Given the description of an element on the screen output the (x, y) to click on. 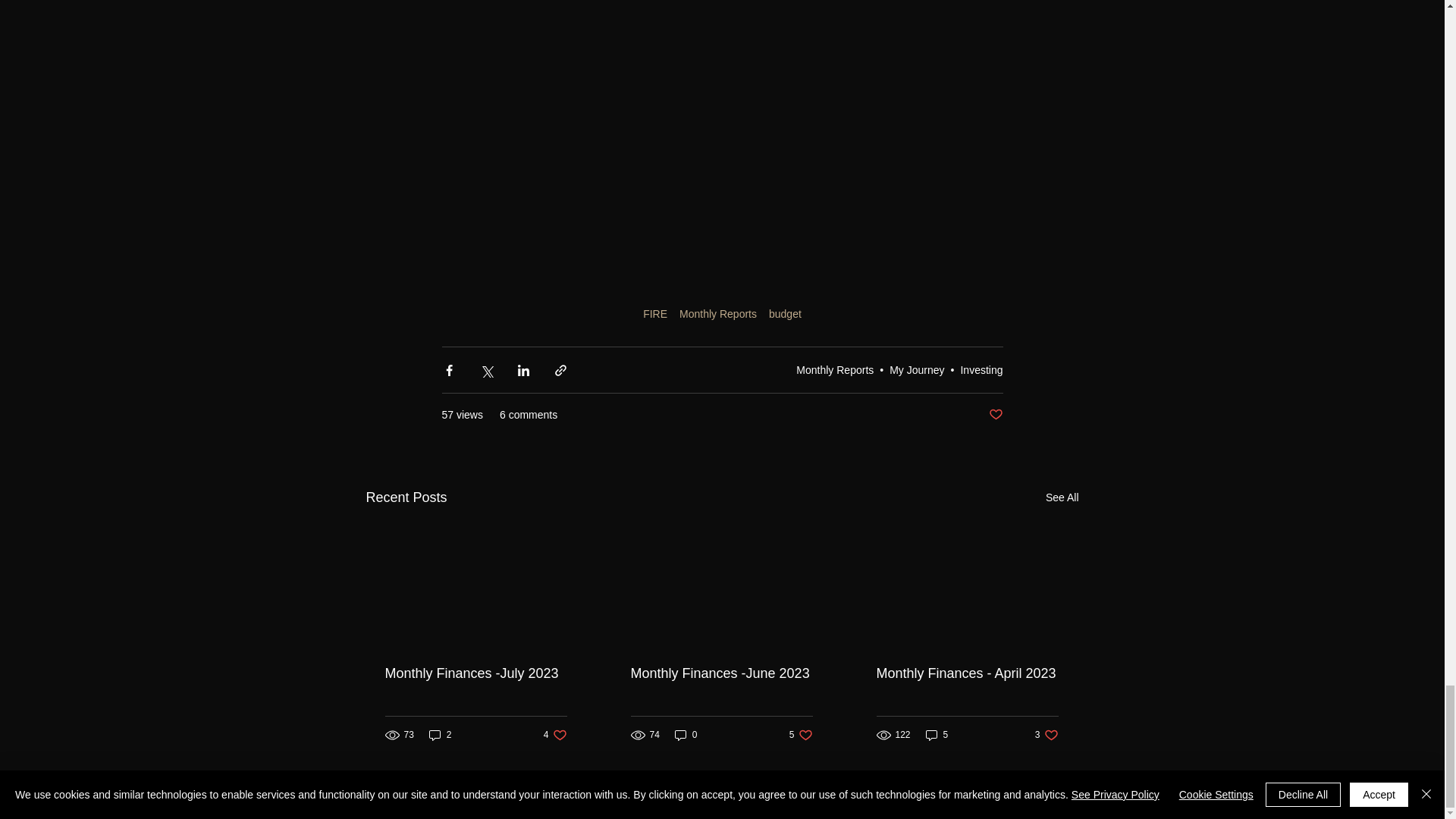
Monthly Finances -July 2023 (476, 673)
2 (555, 735)
Monthly Finances -June 2023 (440, 735)
Investing (800, 735)
See All (721, 673)
budget (981, 369)
Post not marked as liked (1061, 497)
remote content (785, 313)
